Given the description of an element on the screen output the (x, y) to click on. 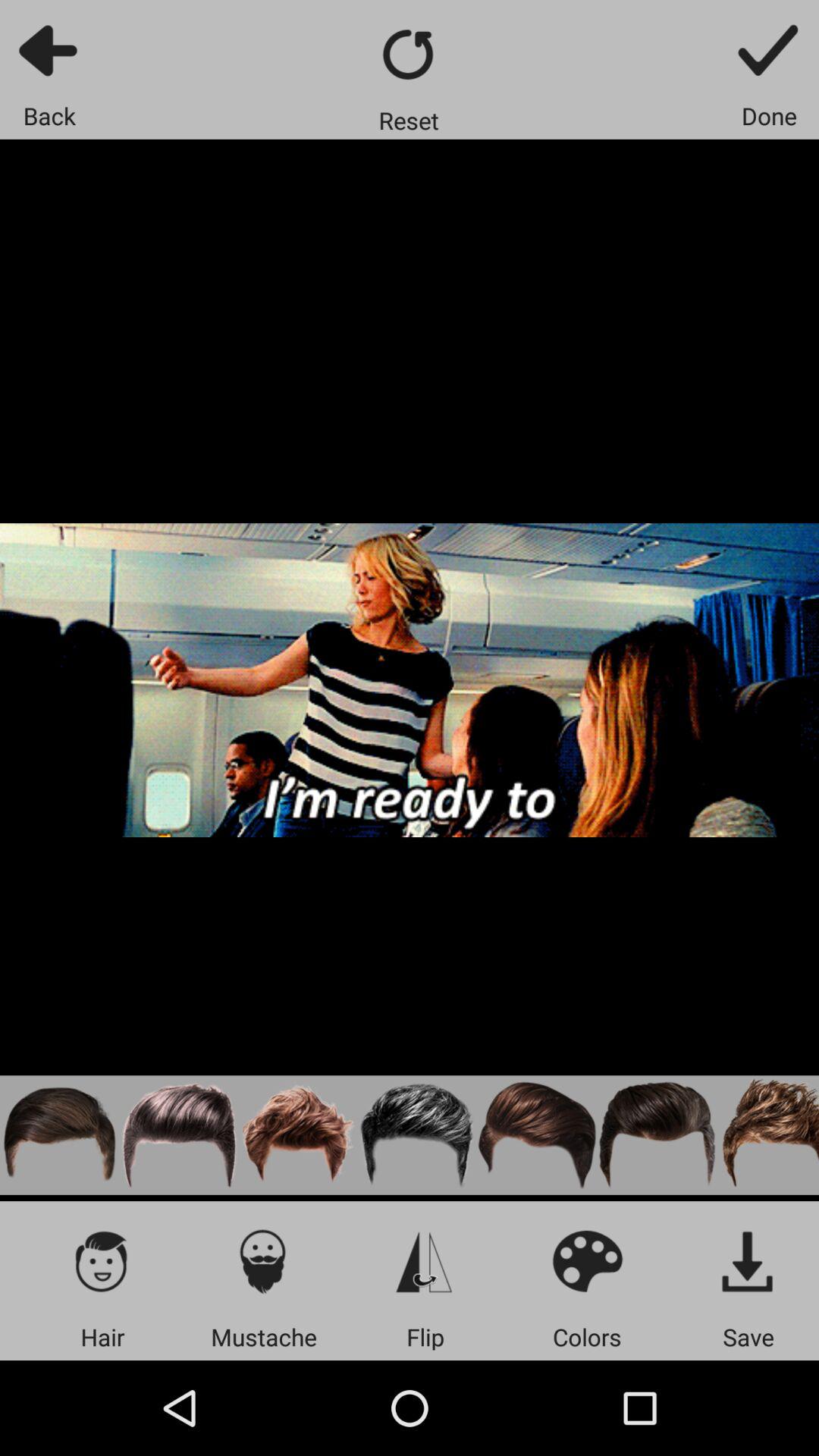
choose the app above the flip (425, 1260)
